Given the description of an element on the screen output the (x, y) to click on. 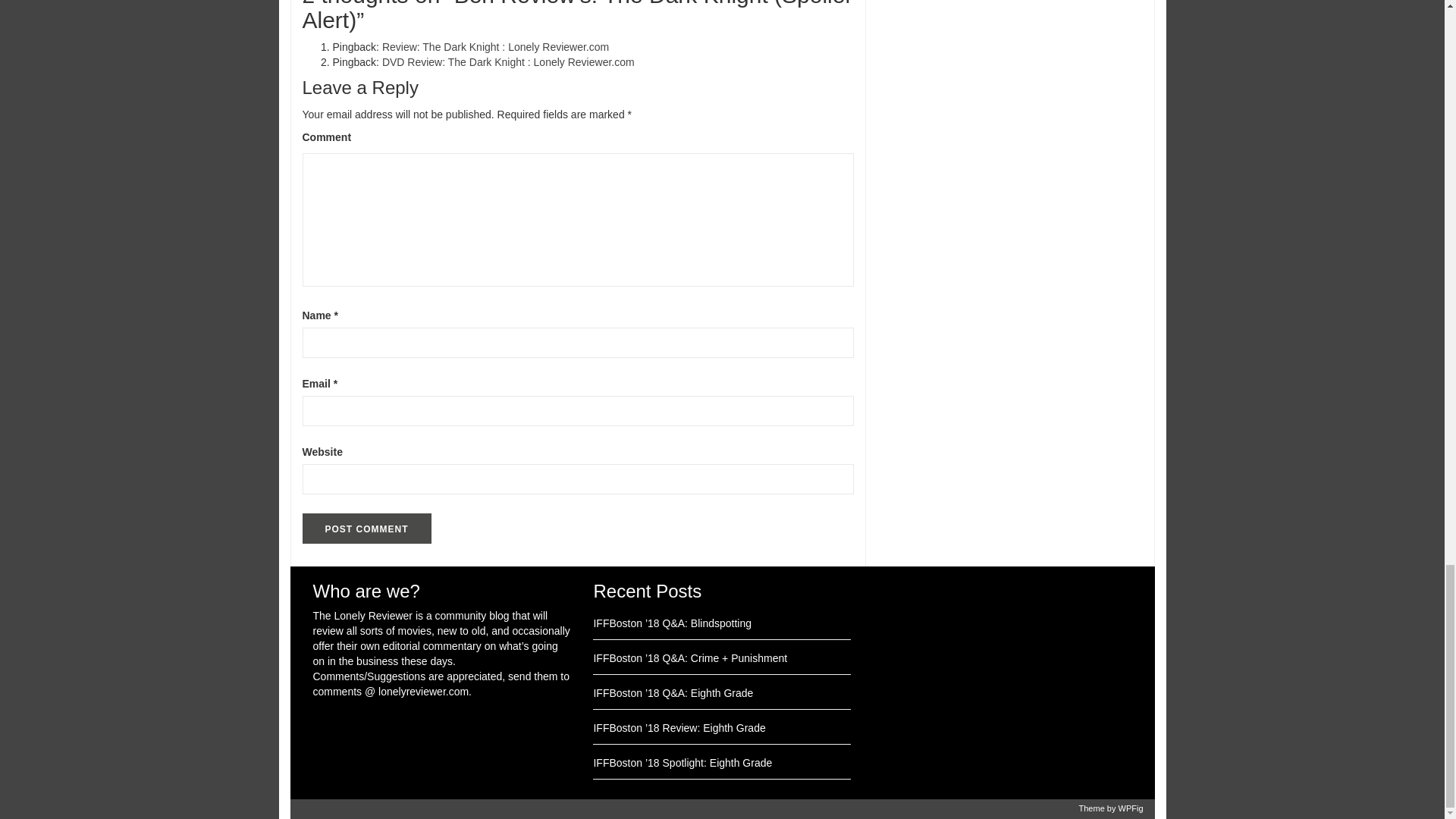
Post Comment (365, 528)
Review: The Dark Knight : Lonely Reviewer.com (494, 46)
Post Comment (365, 528)
DVD Review: The Dark Knight : Lonely Reviewer.com (507, 61)
